Given the description of an element on the screen output the (x, y) to click on. 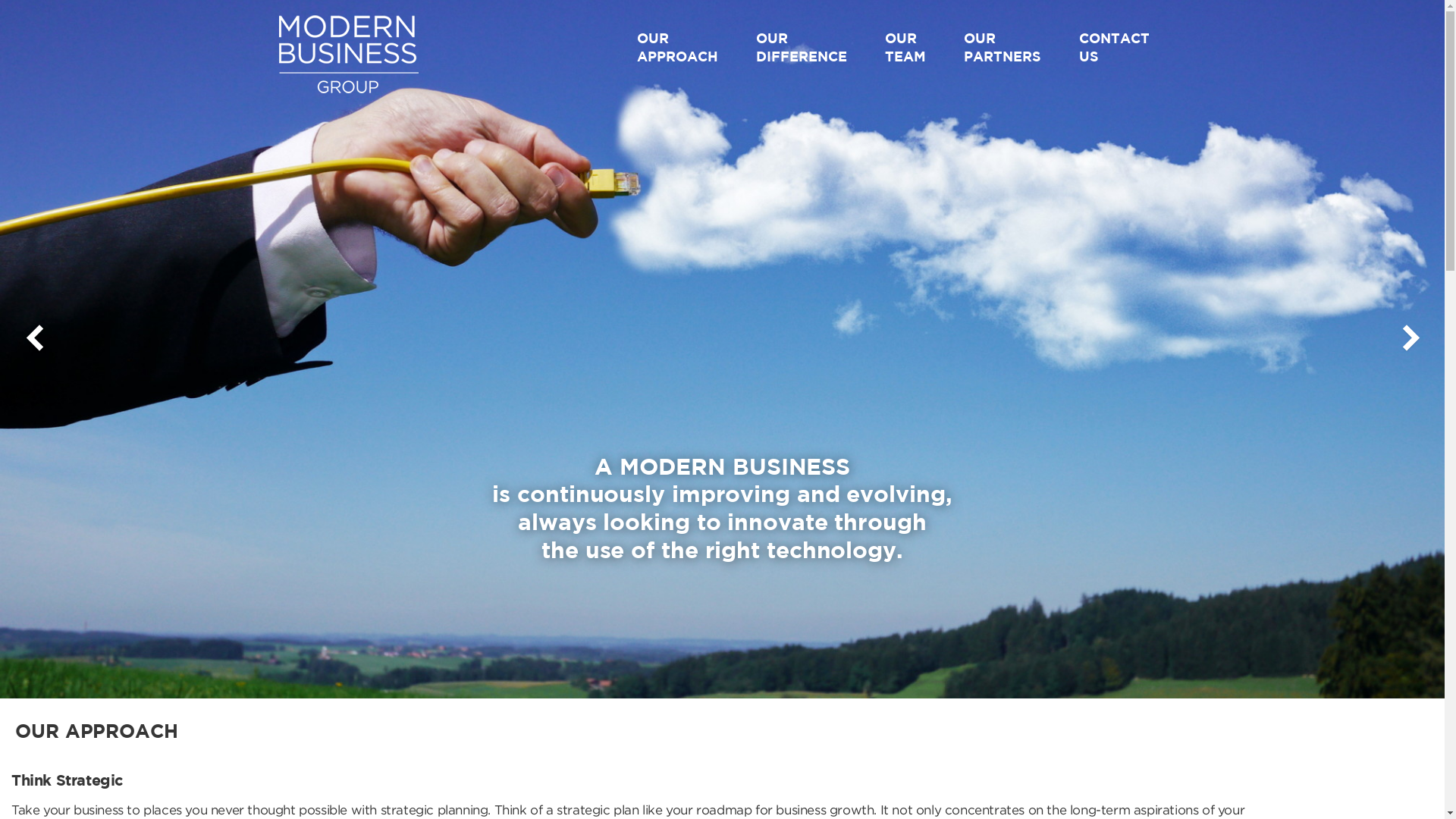
OUR
APPROACH Element type: text (674, 45)
OUR
TEAM Element type: text (901, 45)
OUR
DIFFERENCE Element type: text (798, 45)
CONTACT
US Element type: text (1102, 45)
OUR
PARTNERS Element type: text (999, 45)
MBG Element type: text (303, 131)
